Given the description of an element on the screen output the (x, y) to click on. 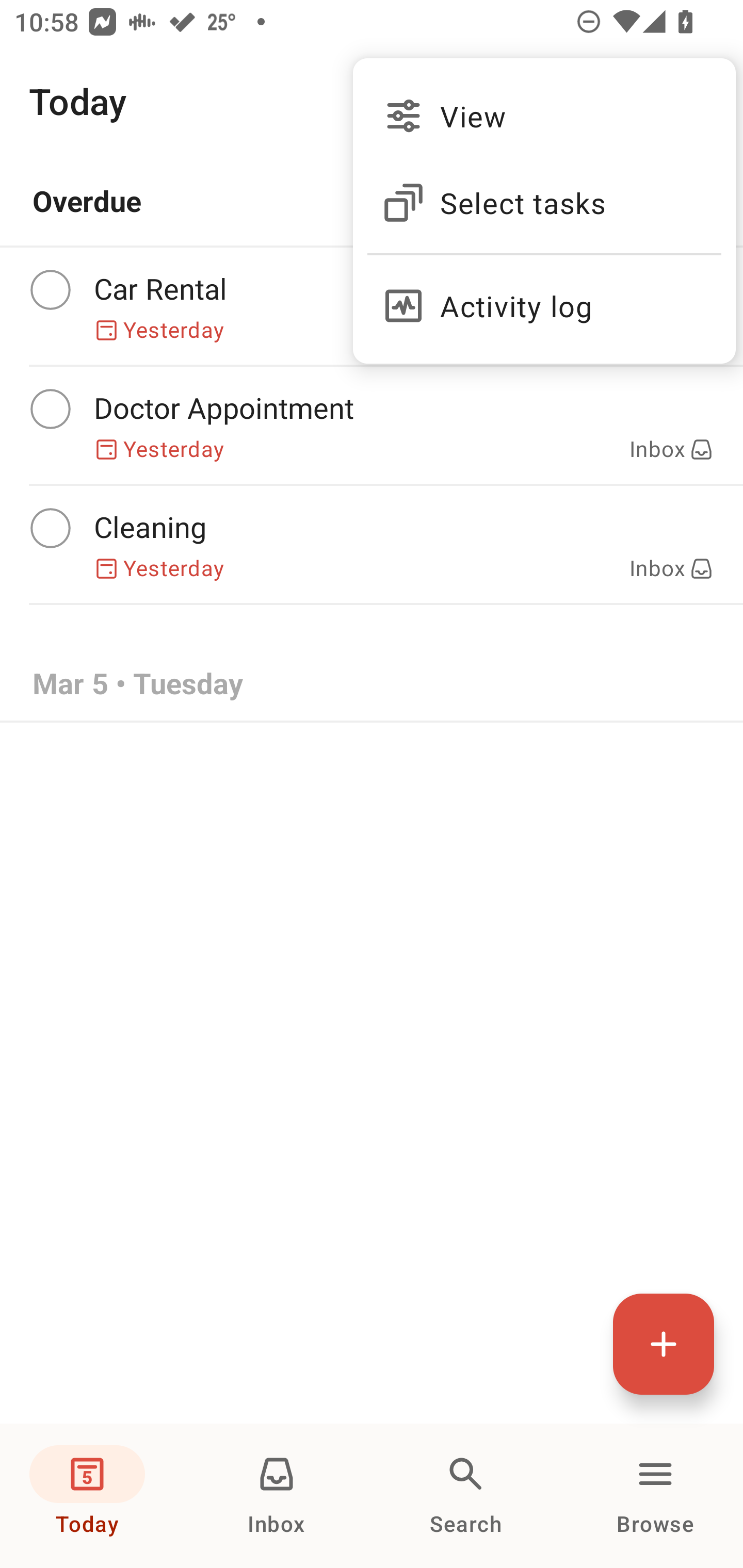
View (544, 115)
Select tasks (544, 202)
Activity log (544, 297)
